Given the description of an element on the screen output the (x, y) to click on. 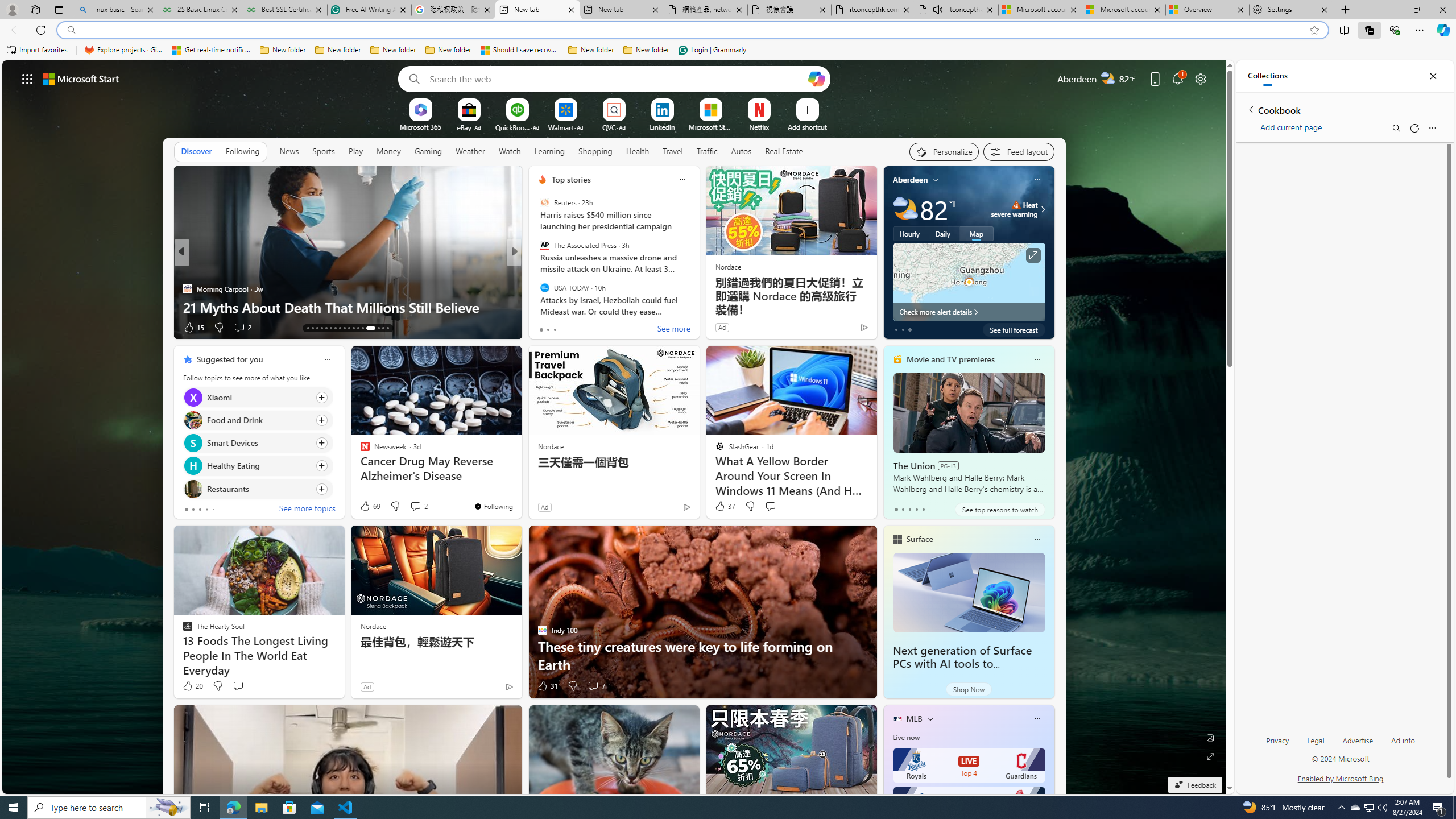
AutomationID: tab-13 (307, 328)
Weather (470, 151)
Daily (942, 233)
tab-1 (903, 509)
Microsoft start (81, 78)
See full forecast (1013, 329)
Overview (1206, 9)
Import favorites (36, 49)
Mute tab (937, 8)
The Associated Press (544, 245)
